Given the description of an element on the screen output the (x, y) to click on. 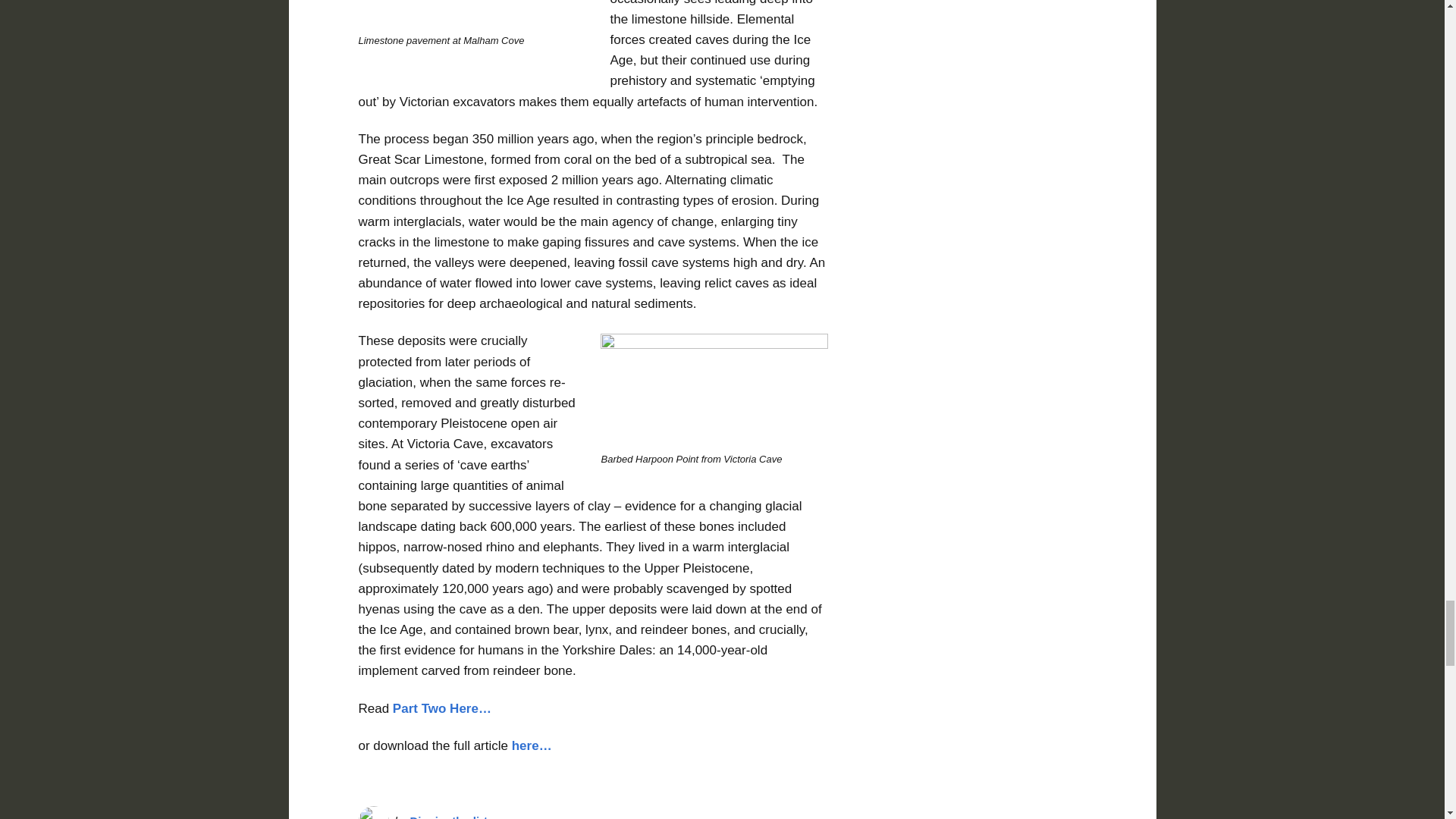
Paleolithic Barbed Harpoon Point from Victoria Cave (713, 388)
Diggingthedirt (448, 816)
Malham Cove (471, 12)
